Given the description of an element on the screen output the (x, y) to click on. 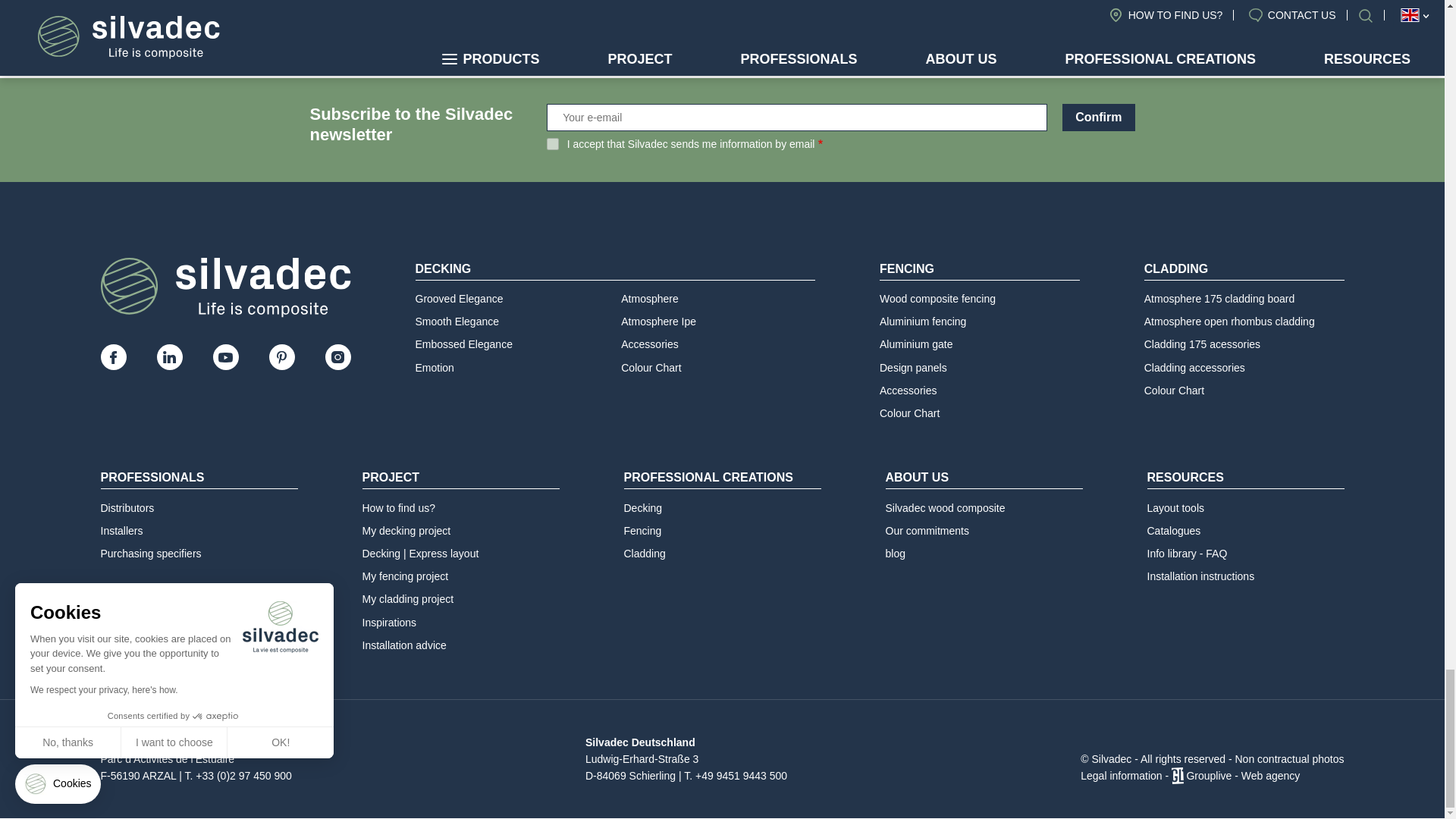
Confirm (1098, 117)
1 (553, 143)
Agence web sites Internet et applications (1177, 775)
